Given the description of an element on the screen output the (x, y) to click on. 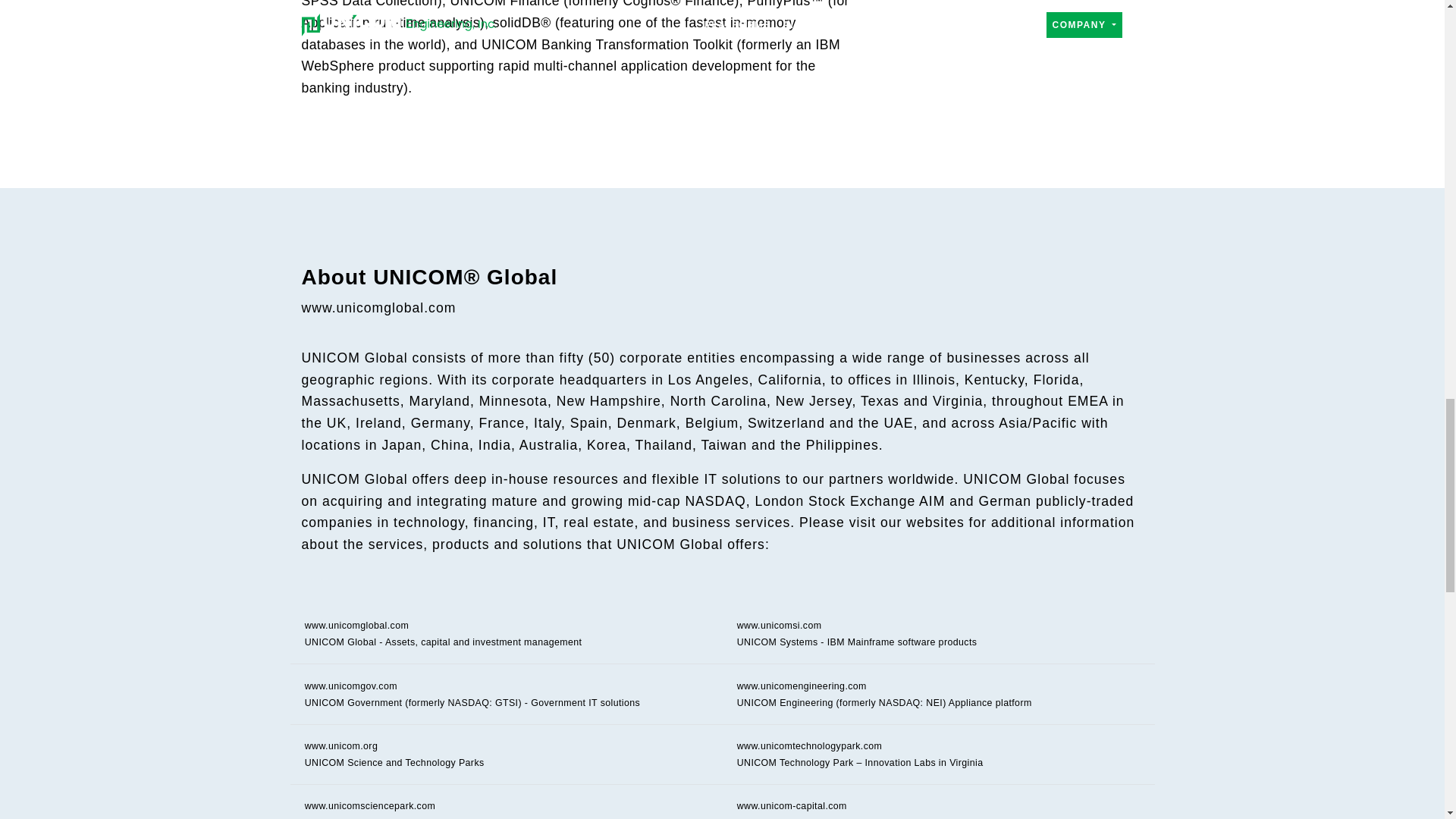
www.unicomglobal.com (356, 624)
www.unicom.org (341, 746)
www.unicomsi.com (779, 624)
www.unicomtechnologypark.com (809, 746)
www.unicomgov.com (350, 685)
www.unicomglobal.com (379, 307)
www.unicomsciencepark.com (369, 805)
www.unicom-capital.com (791, 805)
www.unicomengineering.com (801, 685)
